Given the description of an element on the screen output the (x, y) to click on. 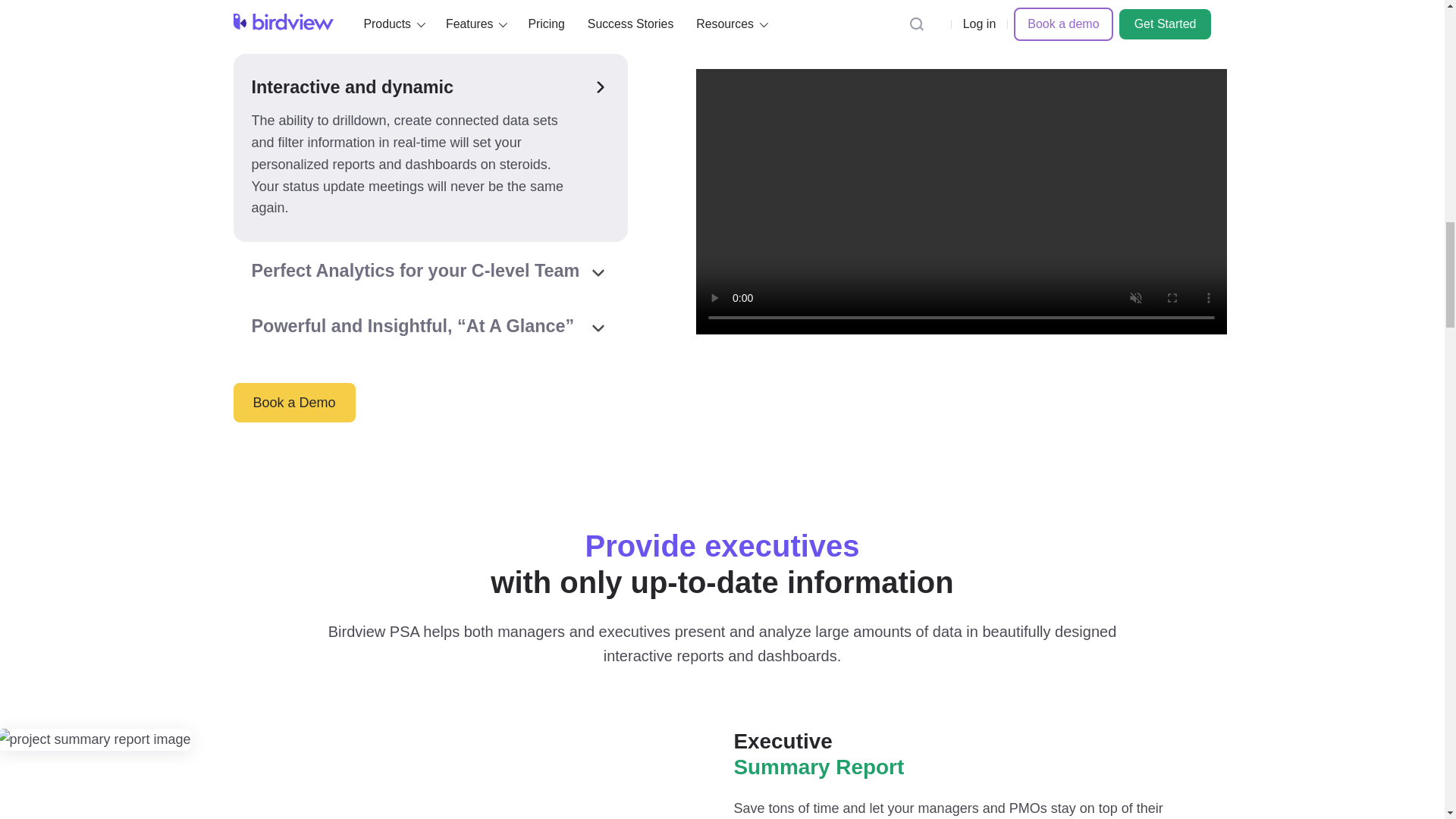
Book a Demo (293, 402)
